Given the description of an element on the screen output the (x, y) to click on. 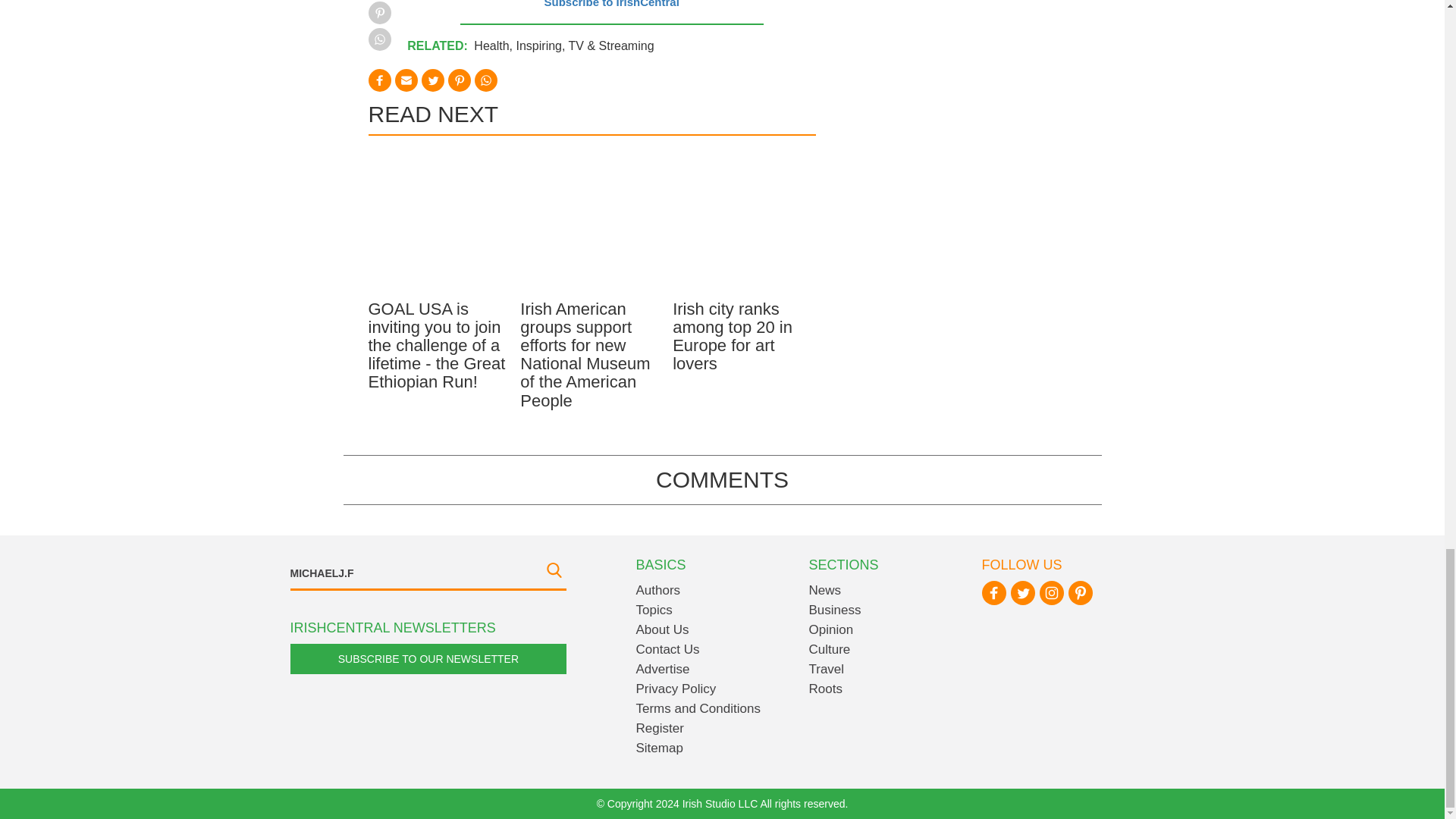
michaelj.f (427, 573)
michaelj.f (427, 573)
